Given the description of an element on the screen output the (x, y) to click on. 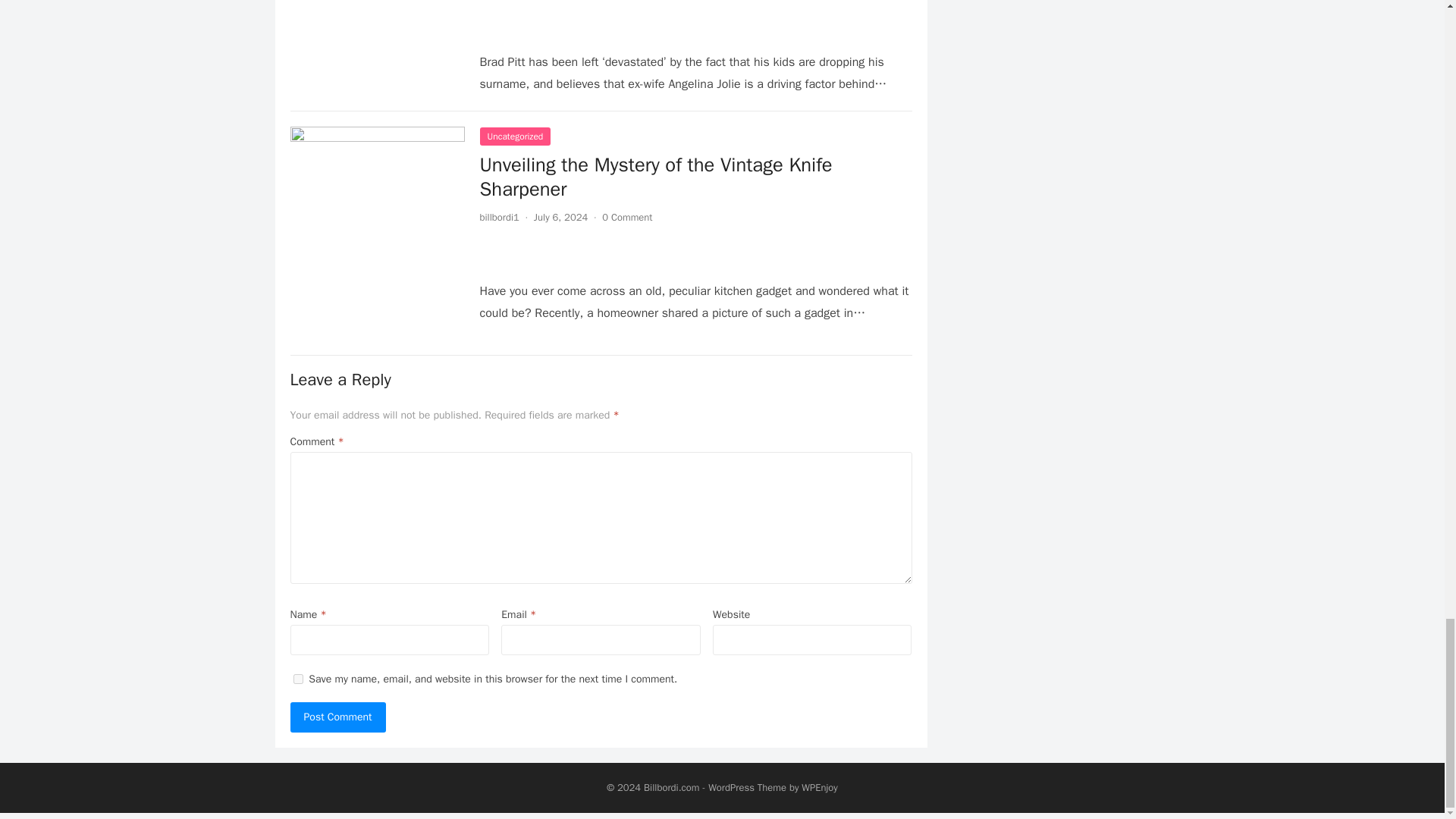
Post Comment (337, 716)
yes (297, 678)
